Given the description of an element on the screen output the (x, y) to click on. 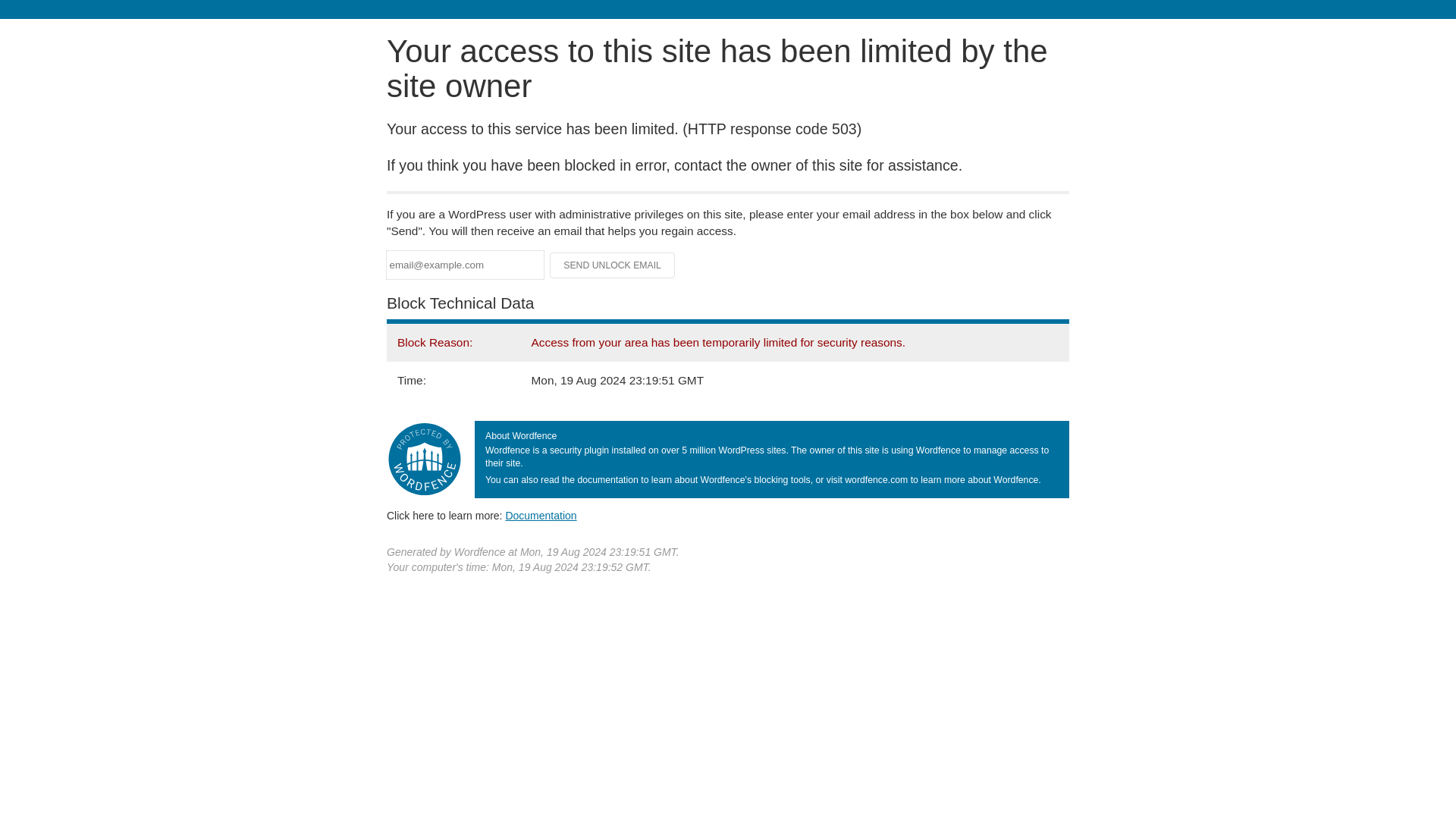
Documentation (540, 515)
Send Unlock Email (612, 265)
Send Unlock Email (612, 265)
